Given the description of an element on the screen output the (x, y) to click on. 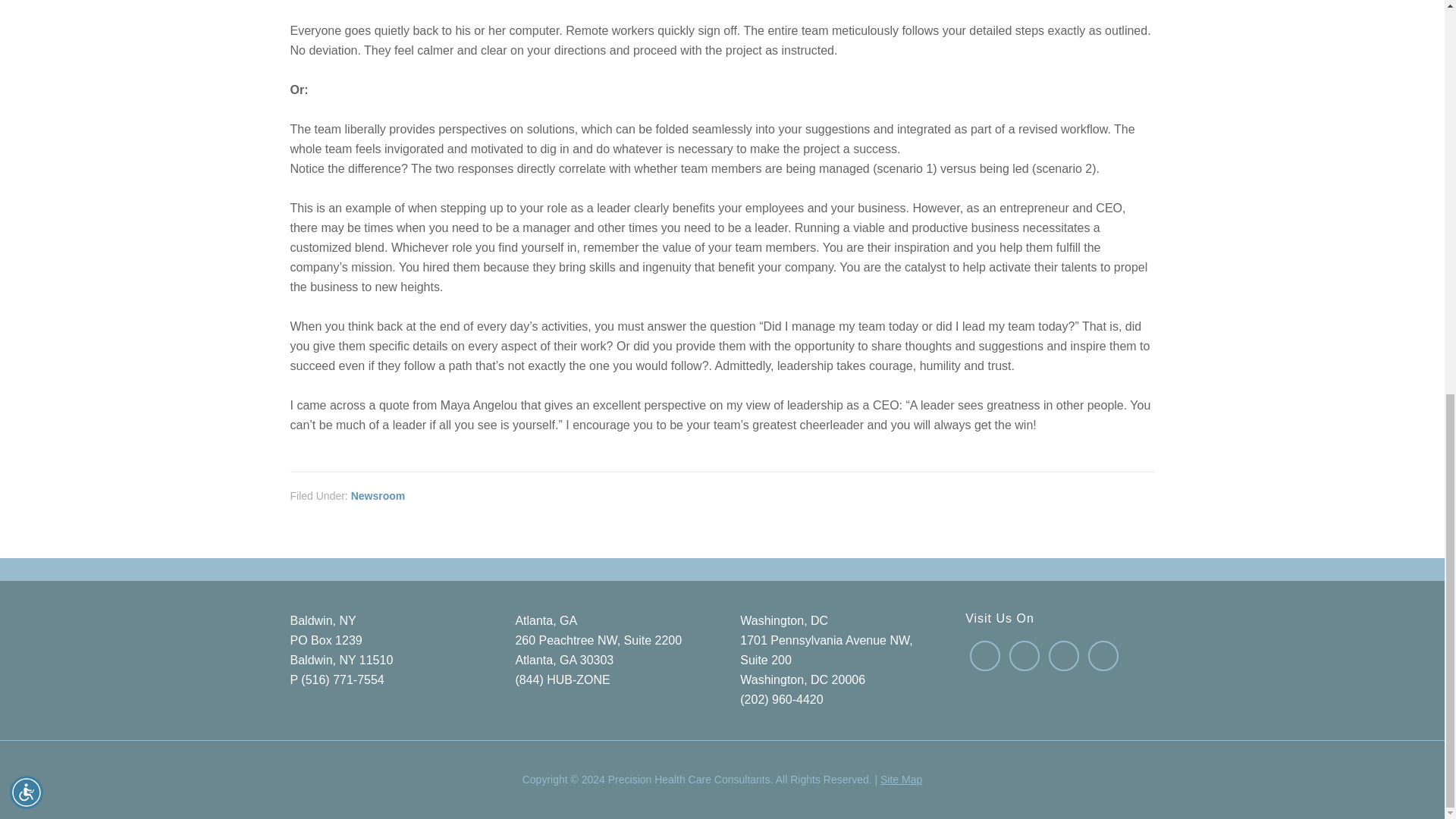
Accessibility Menu (26, 32)
Newsroom (378, 495)
